Given the description of an element on the screen output the (x, y) to click on. 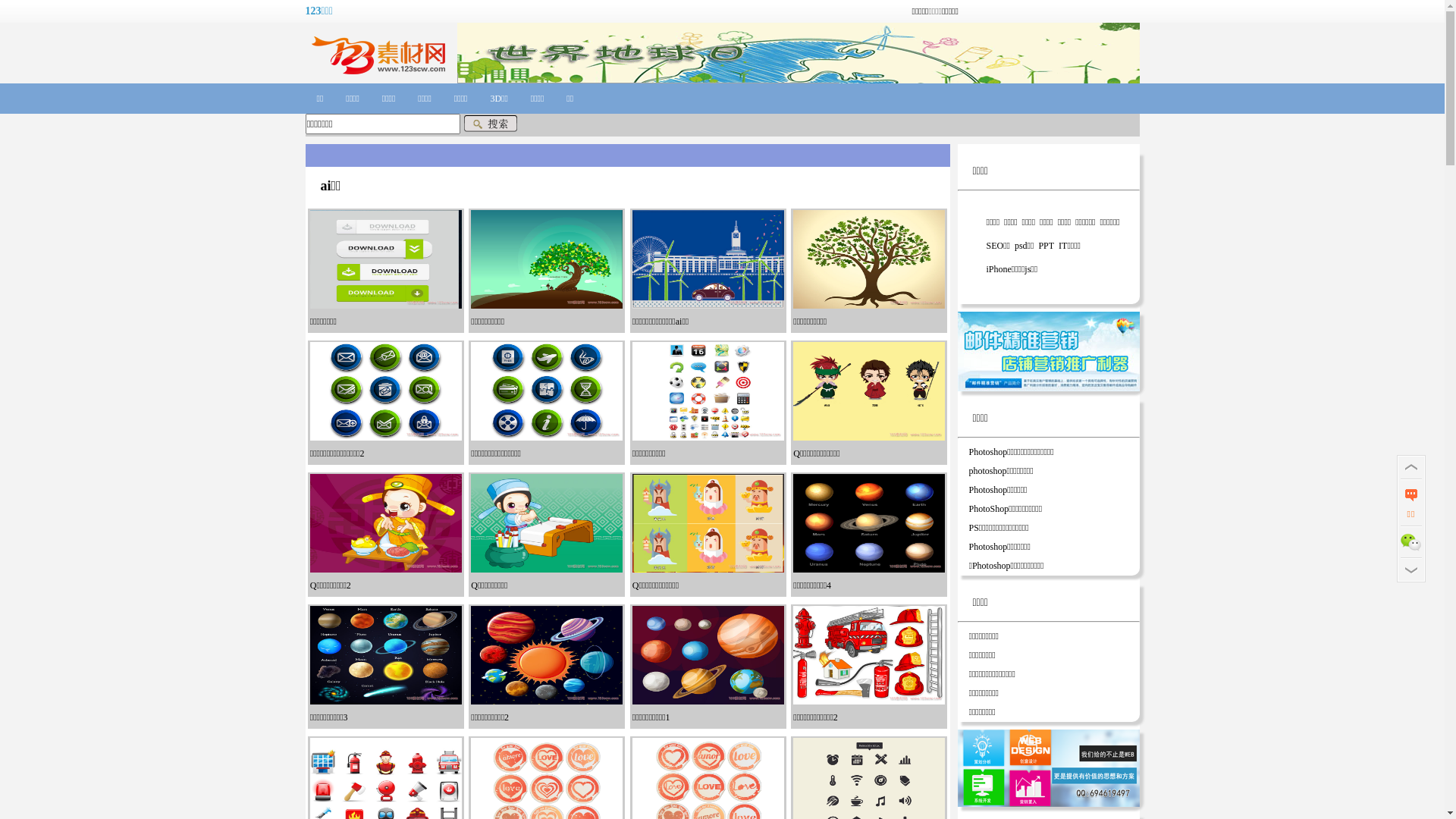
PPT Element type: text (1045, 245)
